Given the description of an element on the screen output the (x, y) to click on. 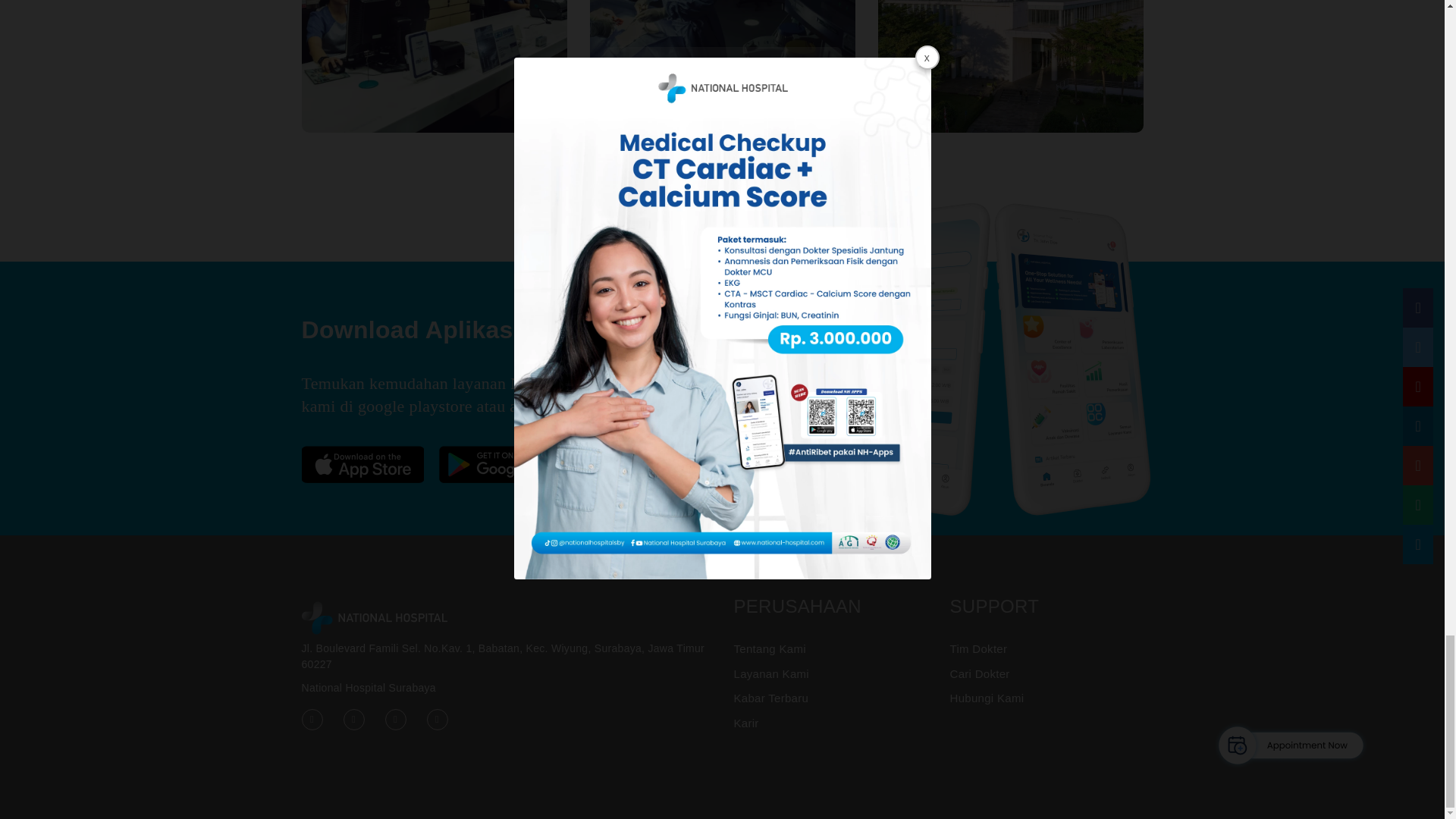
instagram (436, 718)
facebook (312, 718)
youtube (395, 718)
Berita Terbaru dari National Hospital (434, 66)
Cek Jadwal Dokter Disini (722, 66)
twitter (353, 718)
MORULA IVF, PARKINSON DAN LAYANAN LAINNYA (1009, 66)
